Given the description of an element on the screen output the (x, y) to click on. 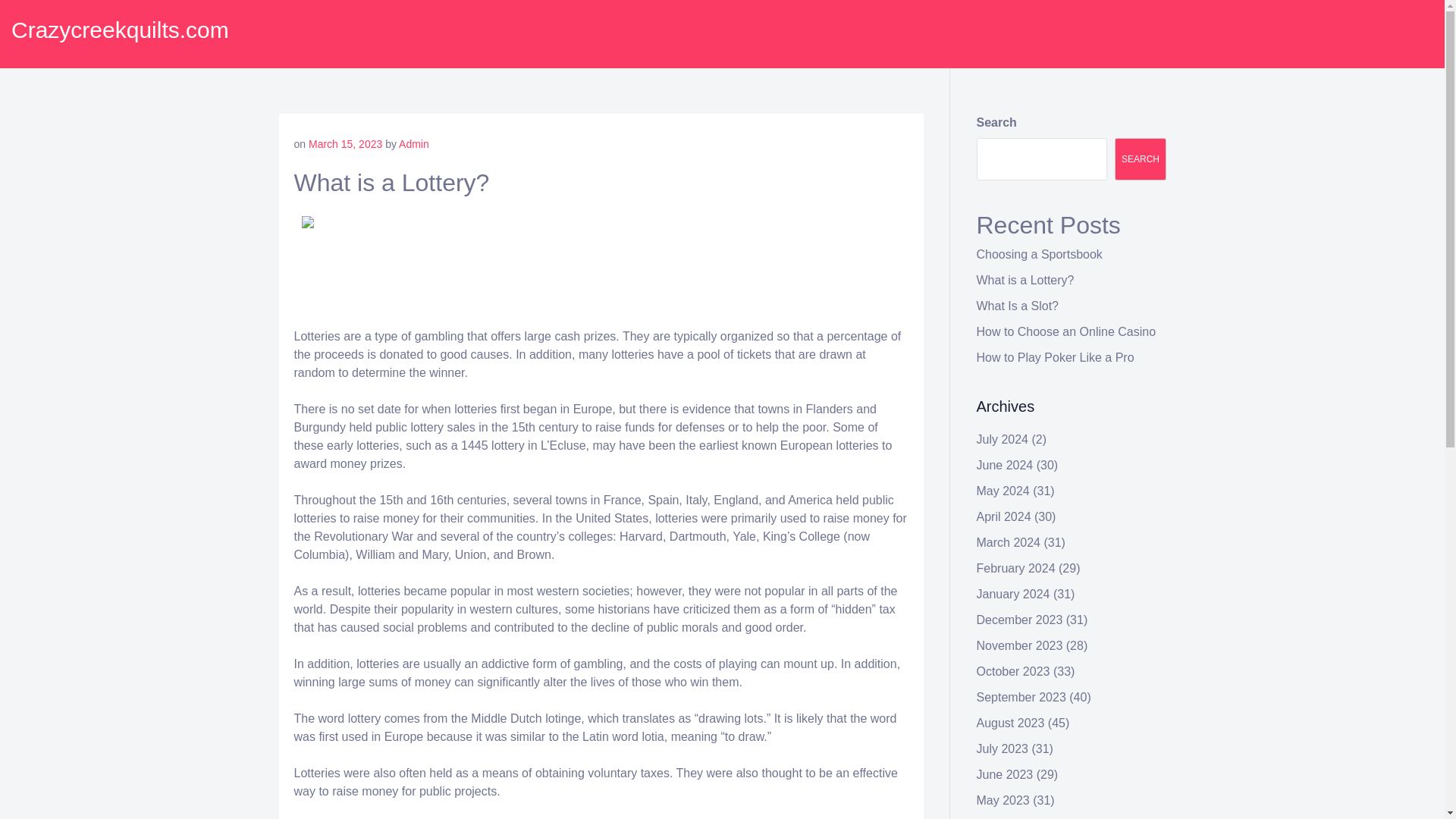
How to Play Poker Like a Pro (1055, 357)
June 2024 (1004, 464)
Crazycreekquilts.com (119, 29)
February 2024 (1015, 567)
What is a Lottery? (1025, 279)
September 2023 (1020, 697)
October 2023 (1012, 671)
August 2023 (1010, 722)
January 2024 (1012, 594)
March 2024 (1008, 542)
March 15, 2023 (344, 143)
What Is a Slot? (1017, 305)
June 2023 (1004, 774)
Choosing a Sportsbook (1039, 254)
November 2023 (1019, 645)
